Given the description of an element on the screen output the (x, y) to click on. 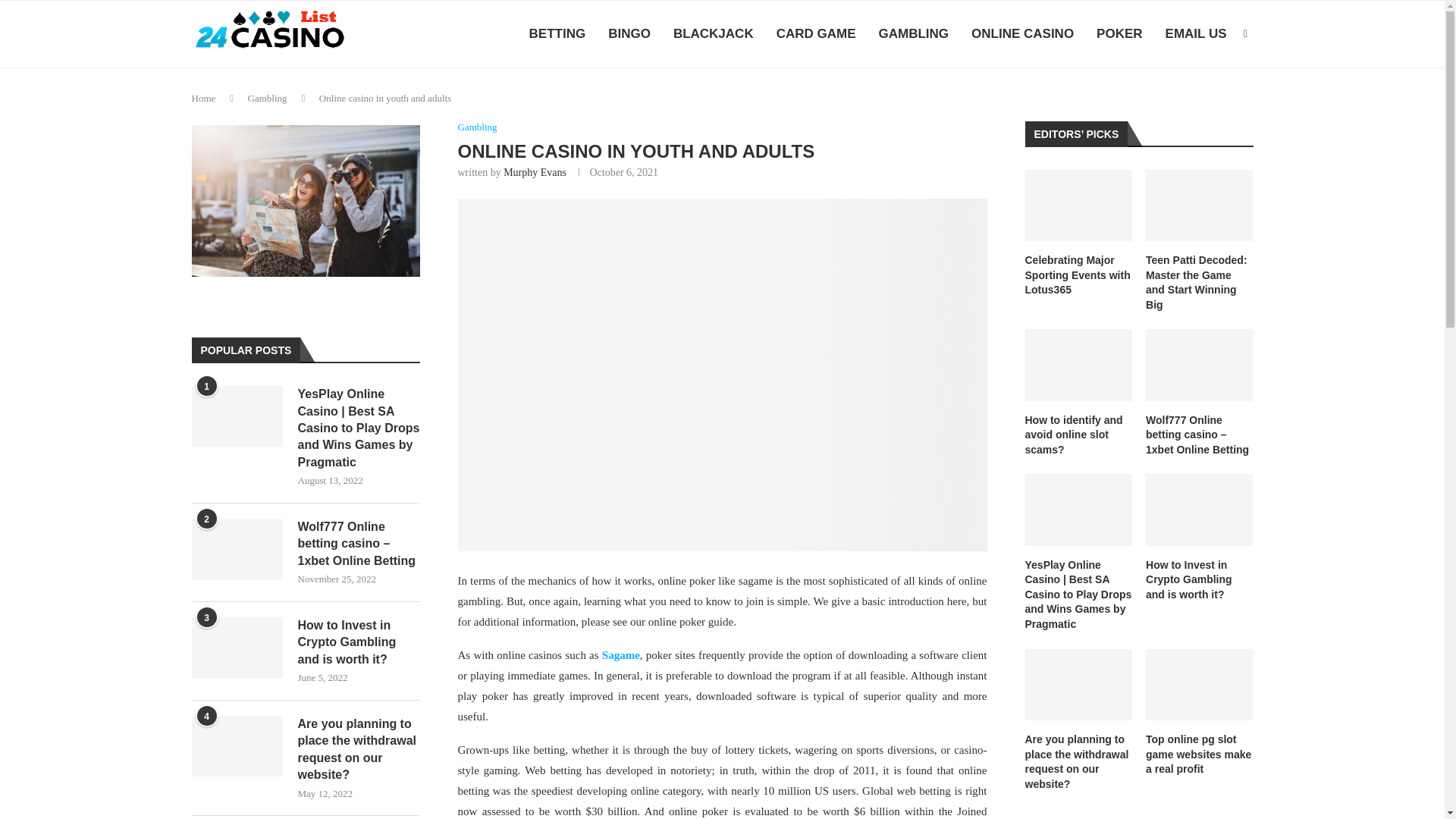
Home (202, 98)
Murphy Evans (534, 172)
GAMBLING (913, 33)
Sagame (621, 654)
CARD GAME (816, 33)
Gambling (266, 98)
EMAIL US (1196, 33)
BLACKJACK (713, 33)
Gambling (477, 127)
